Given the description of an element on the screen output the (x, y) to click on. 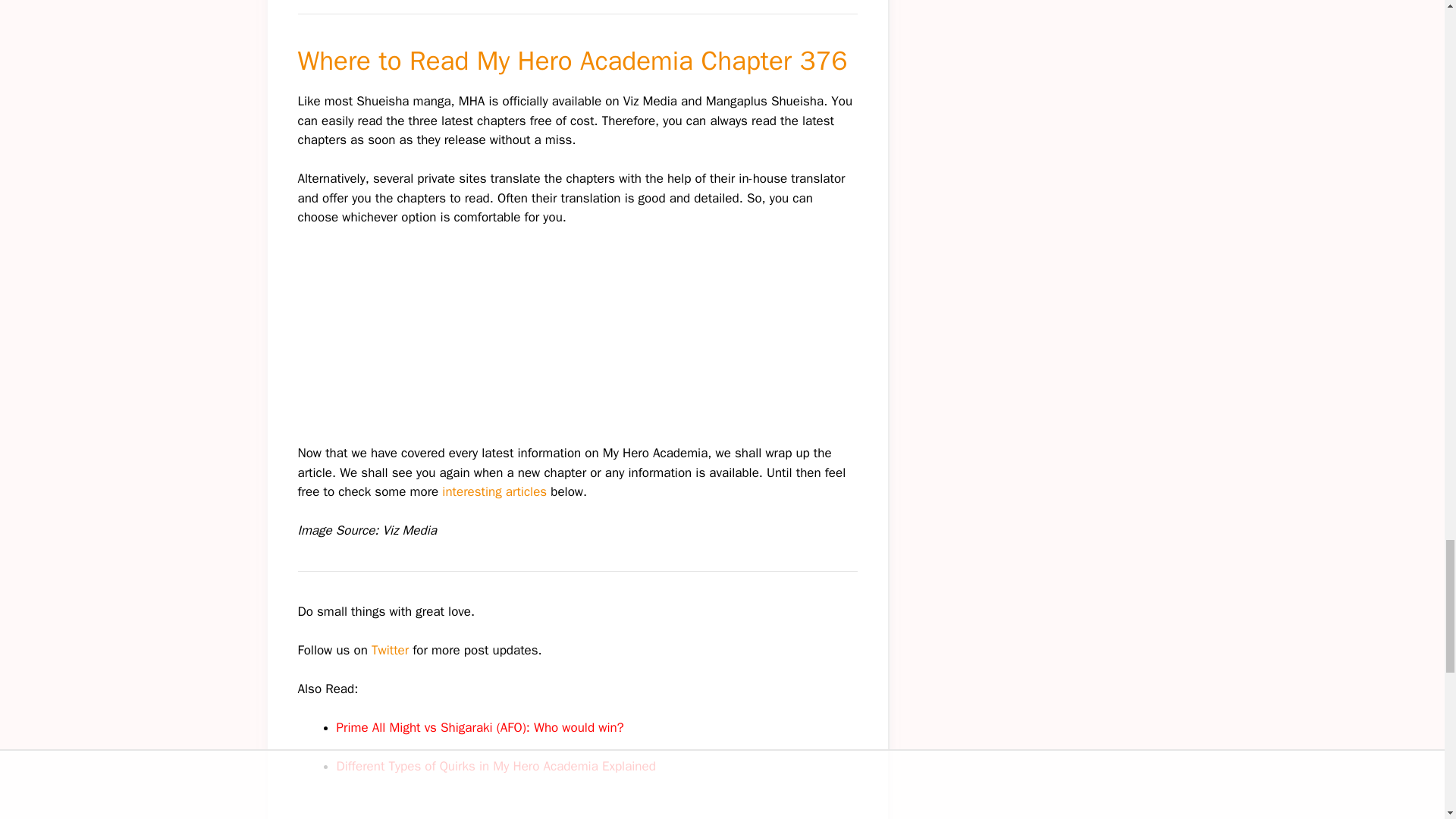
Who would win? (579, 727)
interesting articles (492, 491)
Twitter (390, 650)
Different Types of Quirks in My Hero Academia Explained (496, 765)
